Given the description of an element on the screen output the (x, y) to click on. 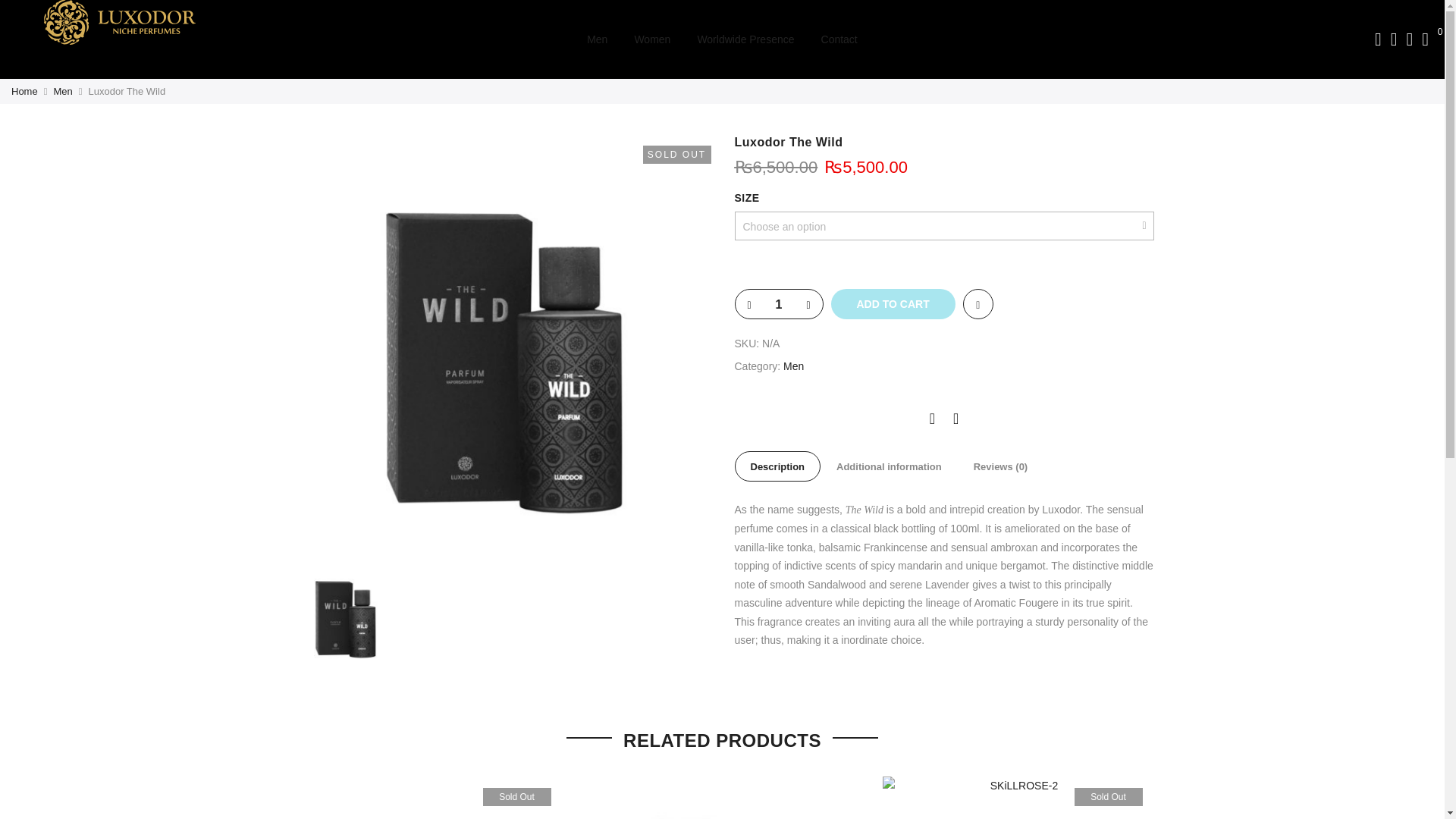
Women (651, 39)
WILD (344, 614)
1 (778, 304)
Men (61, 91)
Men (793, 365)
Additional information (889, 465)
Contact (839, 39)
Home (24, 91)
Qty (778, 304)
Men (596, 39)
Candy-OUD (722, 797)
Worldwide Presence (745, 39)
ADD TO CART (893, 304)
Description (777, 465)
Ottoman-Shahzada-Small (426, 797)
